Given the description of an element on the screen output the (x, y) to click on. 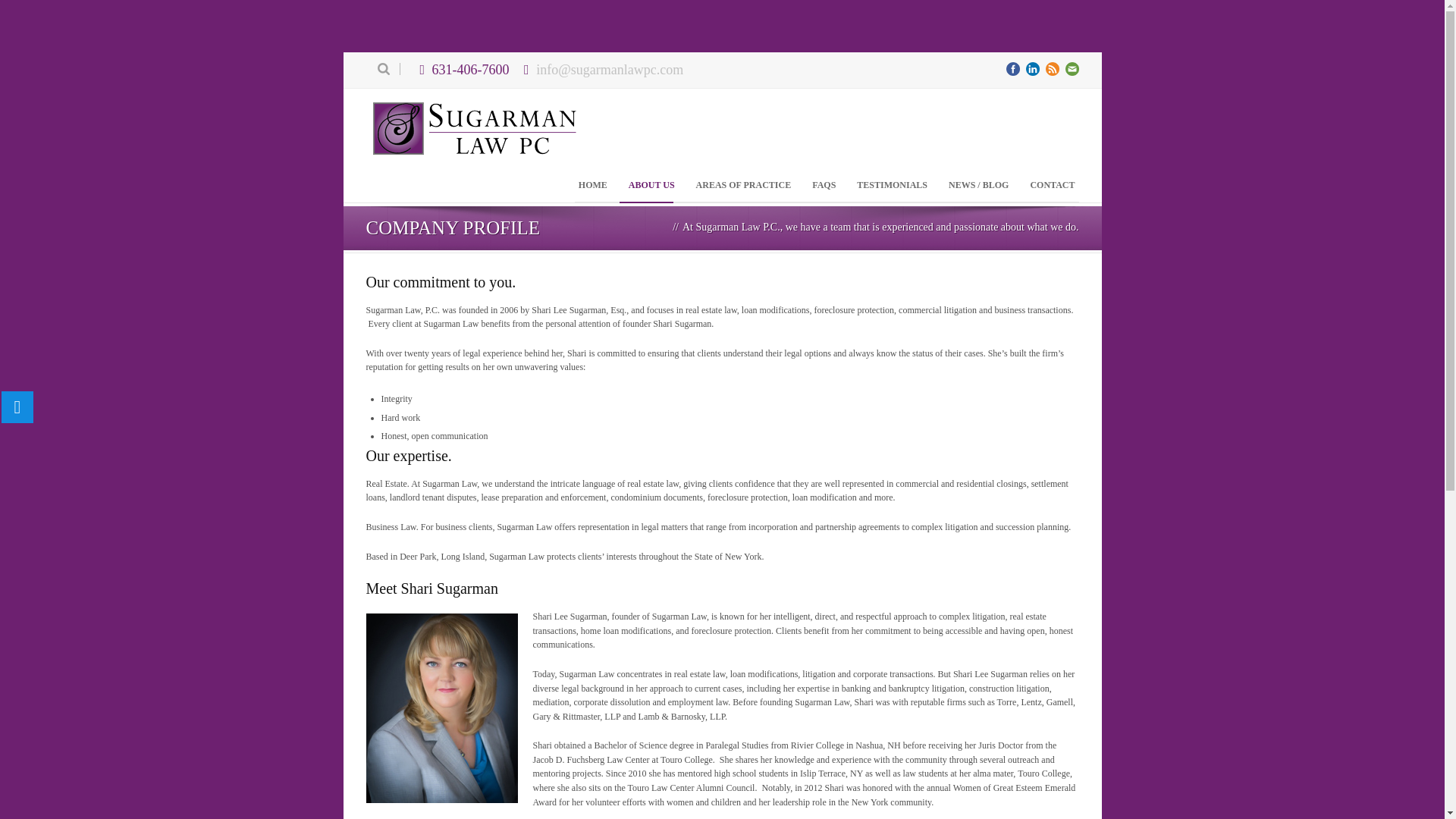
CONTACT (1052, 185)
TESTIMONIALS (892, 185)
HOME (593, 185)
AREAS OF PRACTICE (743, 185)
ABOUT US (651, 185)
FAQS (824, 185)
